Given the description of an element on the screen output the (x, y) to click on. 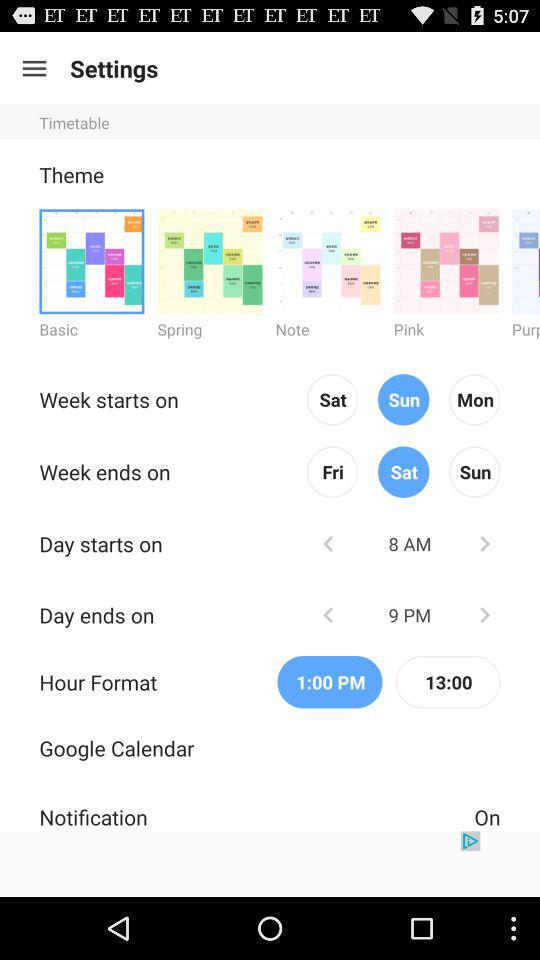
bar of function (34, 68)
